Given the description of an element on the screen output the (x, y) to click on. 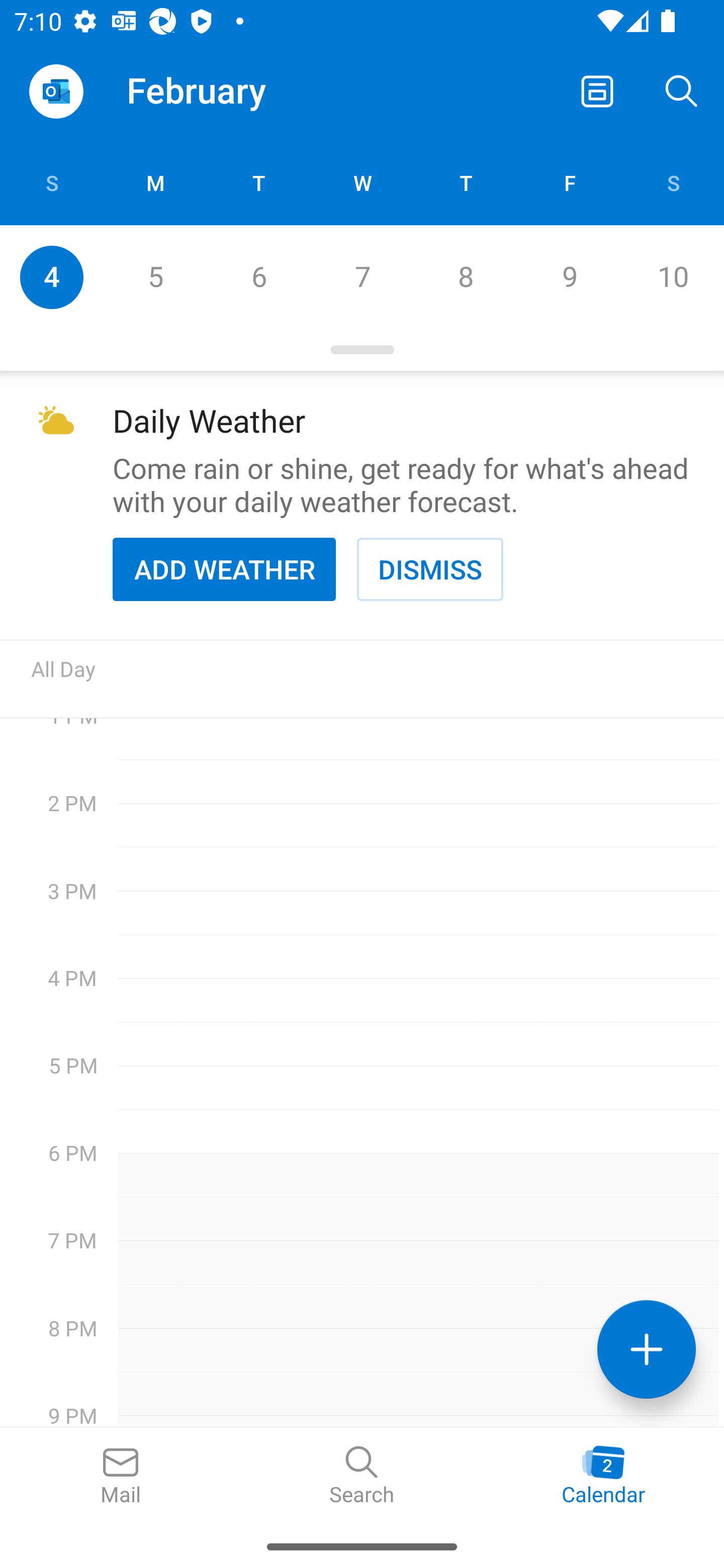
February February 2024, day picker expand (209, 90)
Switch away from Day view (597, 90)
Search (681, 90)
Open Navigation Drawer (55, 91)
4 Sunday, February 4, Selected (51, 277)
5 Monday, February 5 (155, 277)
6 Tuesday, February 6 (258, 277)
7 Wednesday, February 7 (362, 277)
8 Thursday, February 8 (465, 277)
9 Friday, February 9 (569, 277)
10 Saturday, February 10 (672, 277)
Day picker expand (362, 350)
ADD WEATHER (224, 568)
DISMISS (429, 568)
Add new event (646, 1348)
Mail (120, 1475)
Search (361, 1475)
